Given the description of an element on the screen output the (x, y) to click on. 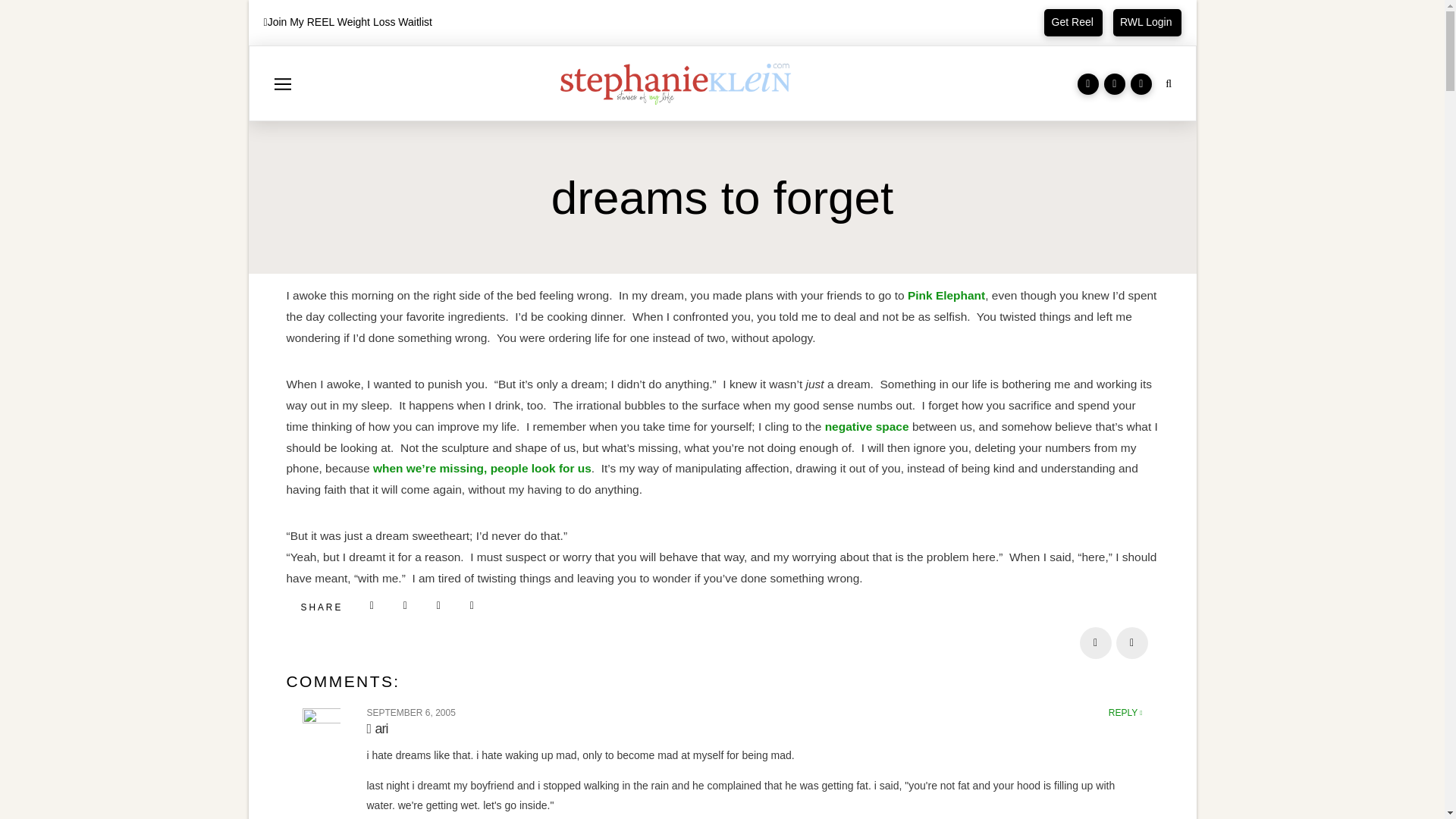
Next (1132, 643)
RWL Login (1146, 22)
REPLY (1125, 712)
Join My REEL Weight Loss Waitlist (349, 21)
negative space (866, 426)
Pink Elephant (946, 295)
Prev (1096, 643)
ari (377, 728)
SEPTEMBER 6, 2005 (410, 712)
Get Reel (1072, 22)
